Given the description of an element on the screen output the (x, y) to click on. 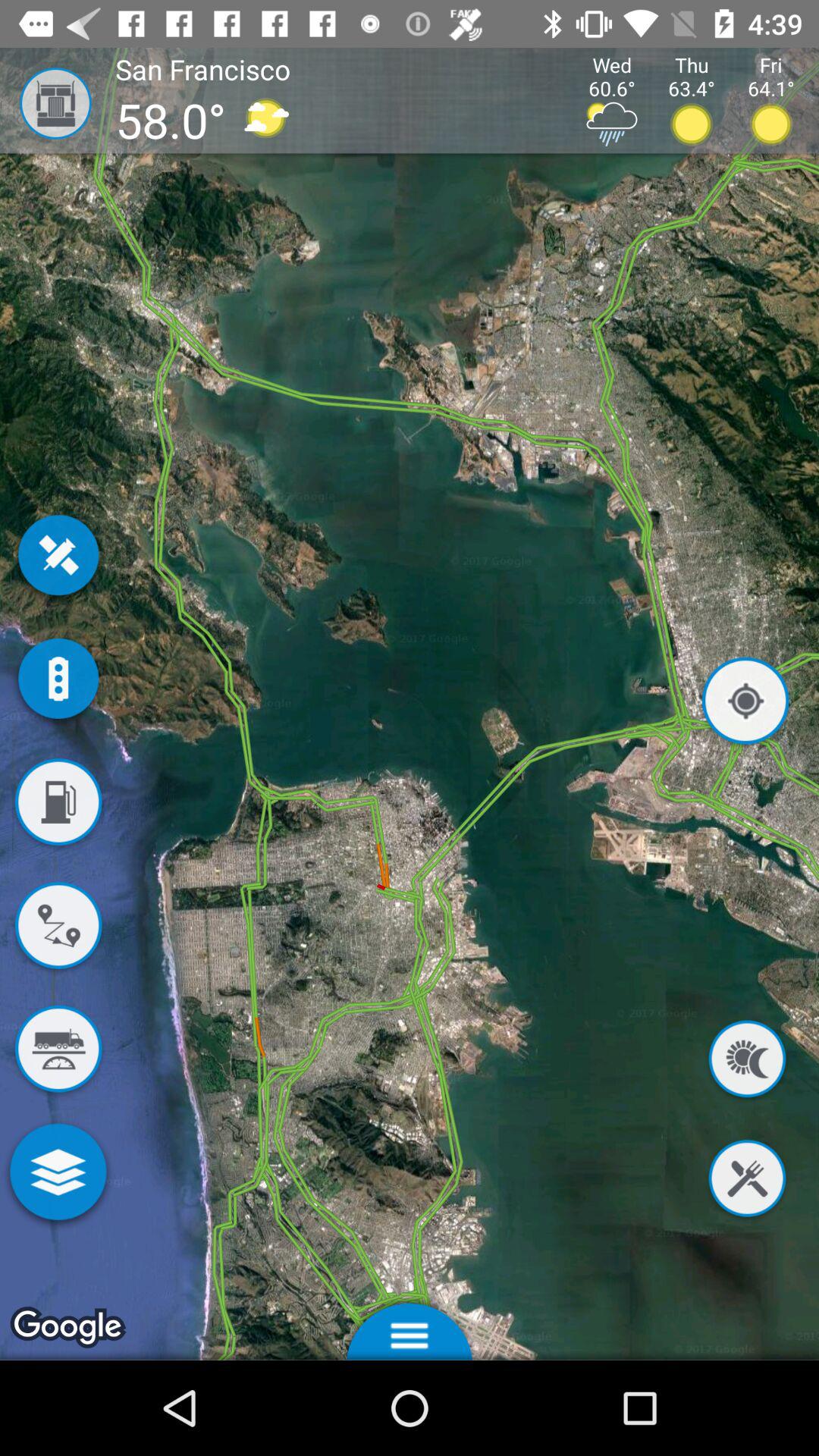
press icon on the right (745, 703)
